Given the description of an element on the screen output the (x, y) to click on. 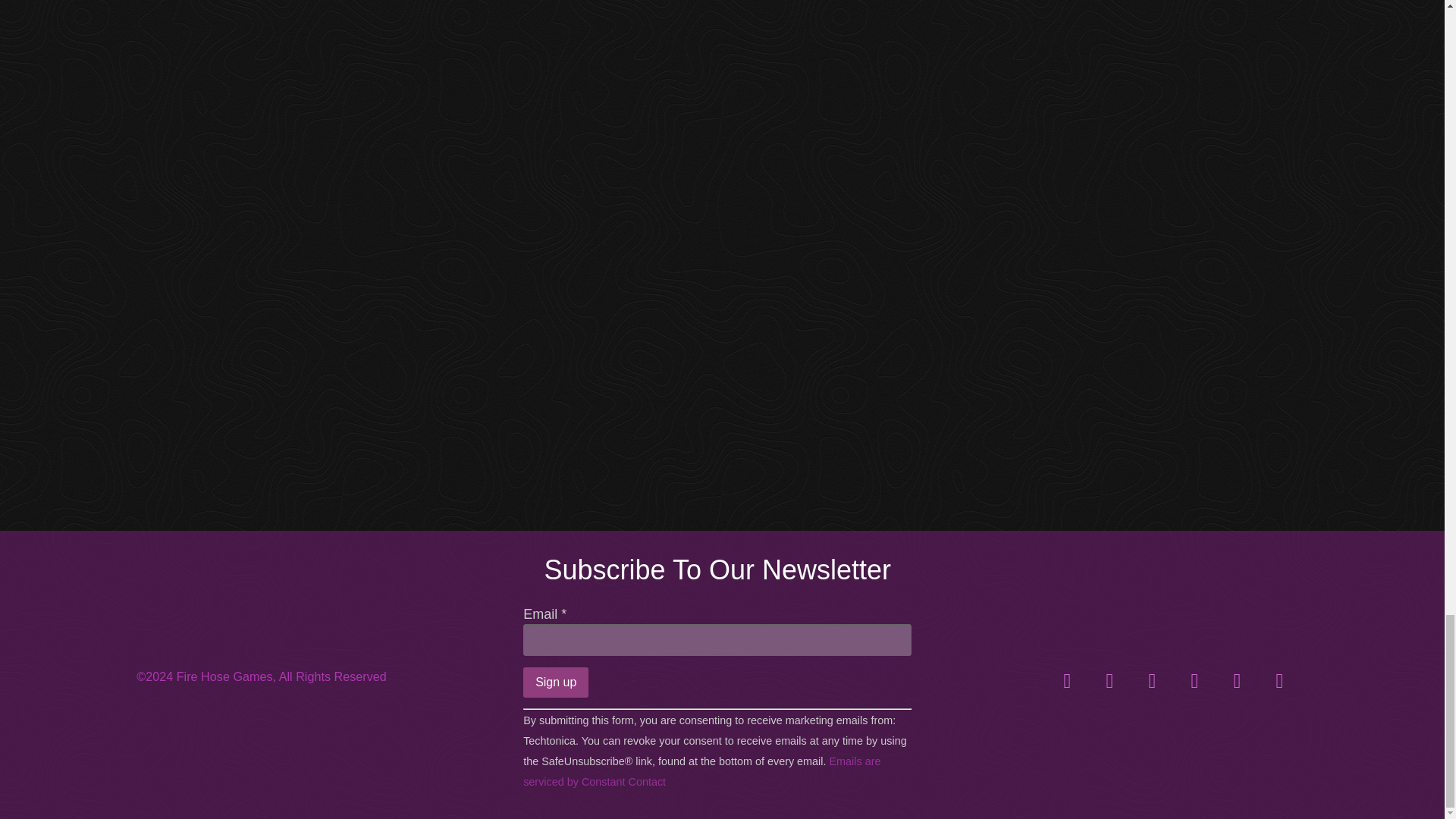
Sign up (555, 682)
Emails are serviced by Constant Contact (701, 771)
required (563, 613)
Sign up (555, 682)
